Given the description of an element on the screen output the (x, y) to click on. 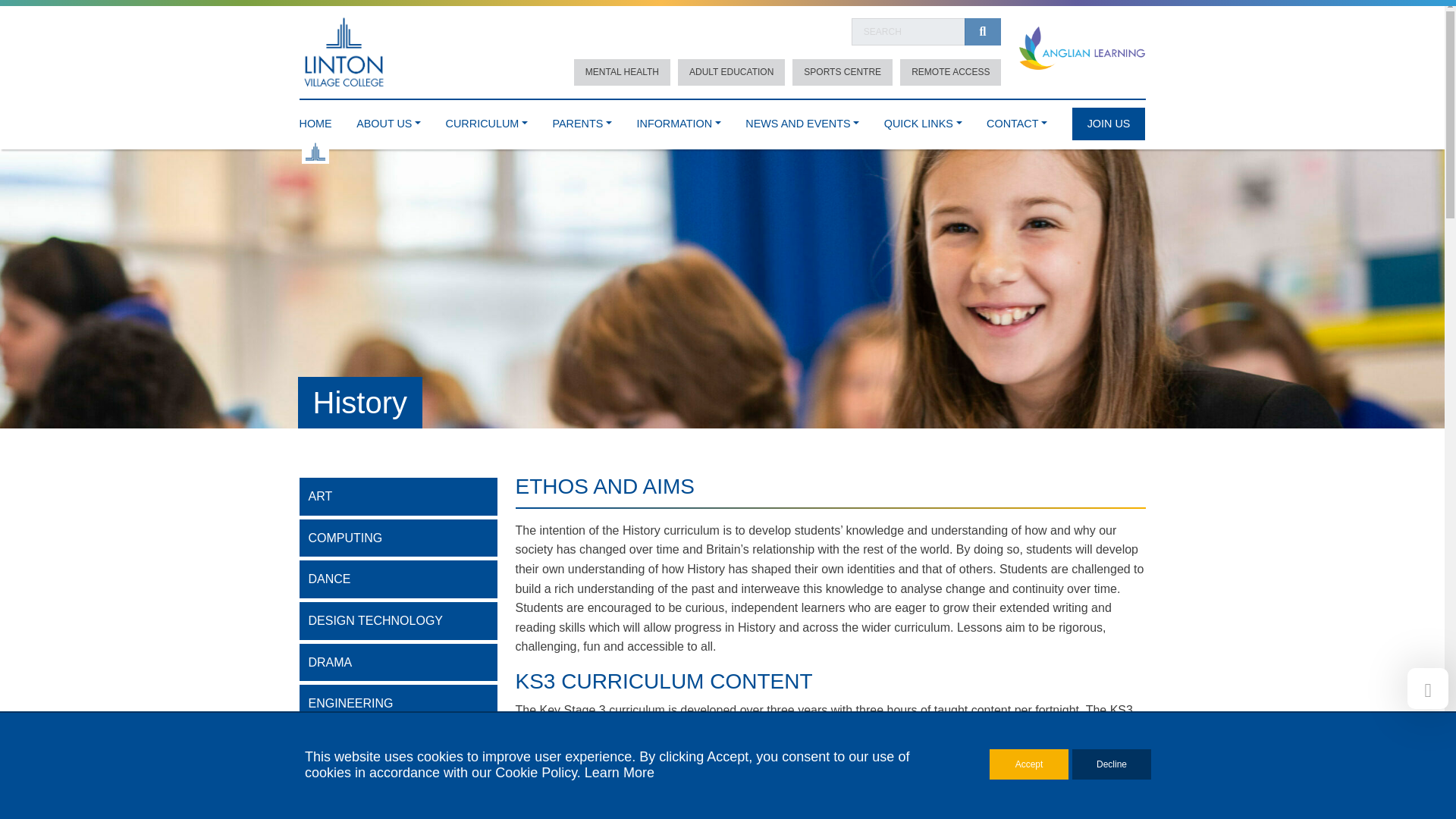
Zoom out (895, 573)
A JavaScript library for interactive maps (1123, 714)
MENTAL HEALTH (621, 71)
HOME (314, 119)
SPORTS CENTRE (842, 71)
CURRICULUM (486, 119)
ABOUT US (388, 119)
Zoom in (895, 550)
REMOTE ACCESS (950, 71)
Anglian Learning (1081, 47)
PARENTS (581, 119)
ADULT EDUCATION (731, 71)
